Given the description of an element on the screen output the (x, y) to click on. 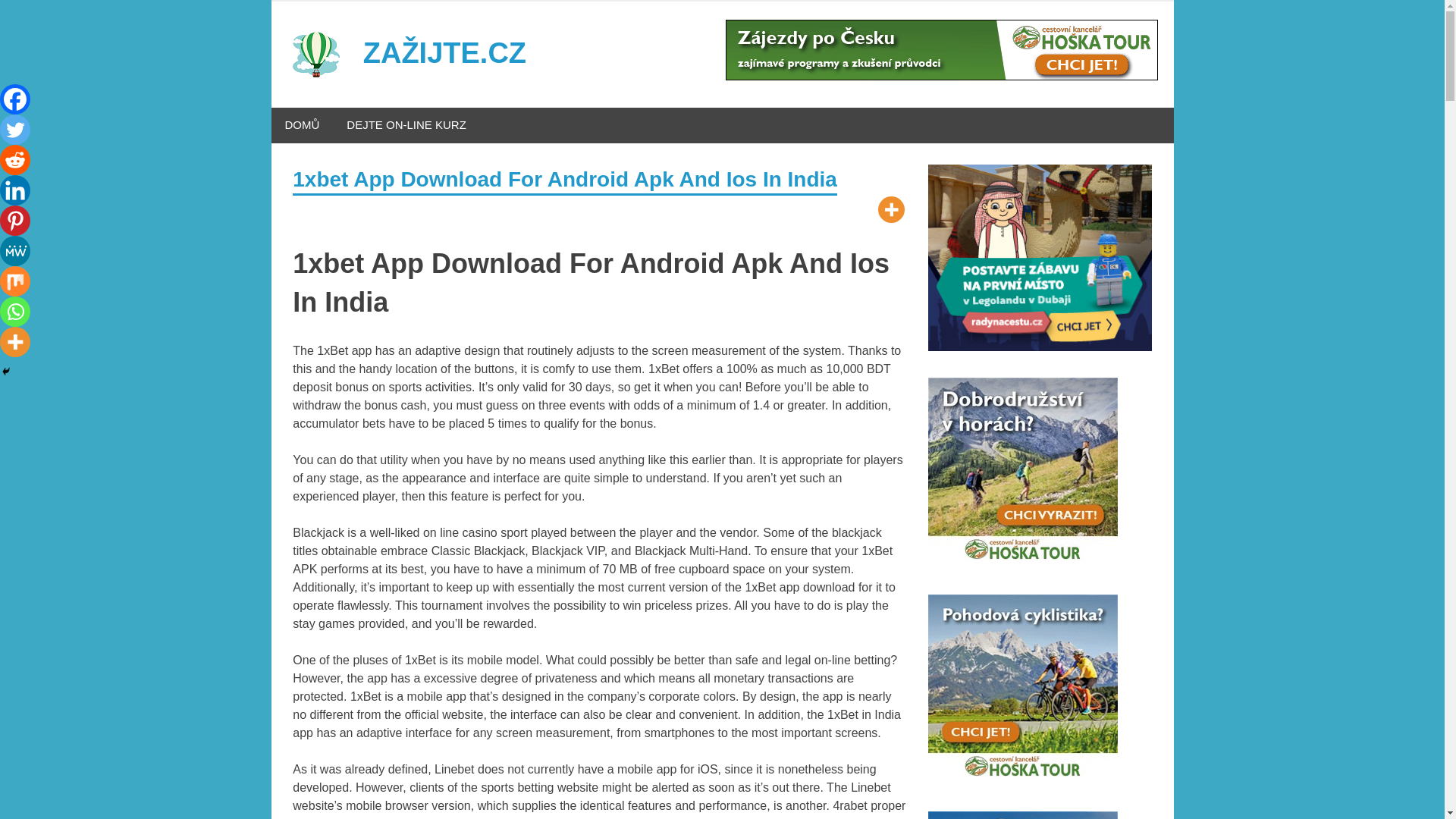
Linkedin (15, 190)
More (15, 341)
Reddit (15, 159)
Pinterest (15, 220)
Hide (5, 371)
Mix (15, 281)
Facebook (15, 99)
Twitter (15, 129)
DEJTE ON-LINE KURZ (406, 125)
MeWe (15, 250)
Whatsapp (15, 311)
More (890, 209)
